Given the description of an element on the screen output the (x, y) to click on. 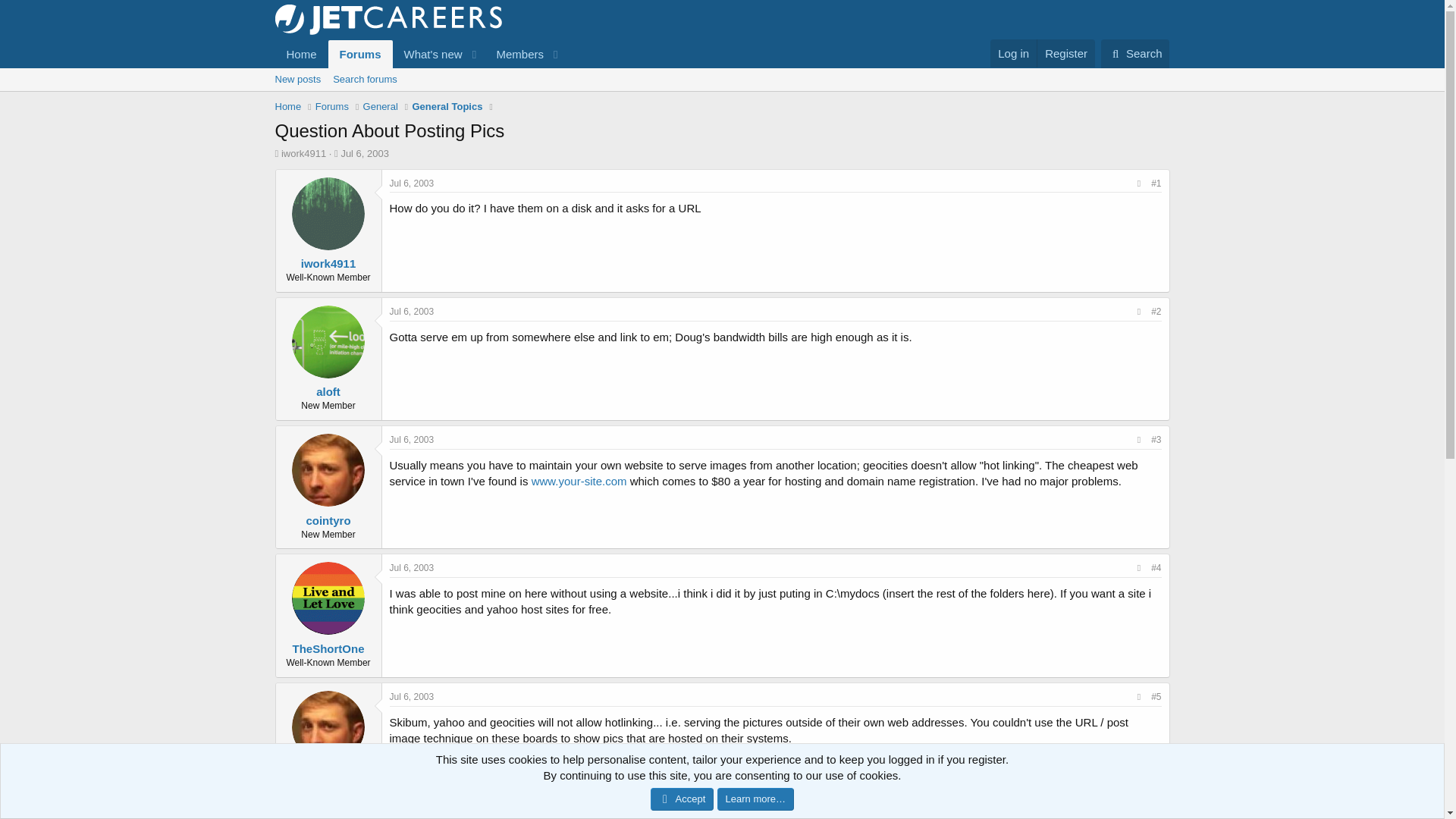
General Topics (446, 106)
Forums (361, 53)
General (720, 78)
Search (379, 106)
Search forums (1135, 53)
Jul 6, 2003 (364, 78)
iwork4911 (364, 153)
Register (303, 153)
Home (1065, 53)
Jul 6, 2003 at 06:51 (288, 106)
Forums (411, 567)
Jul 6, 2003 at 05:55 (332, 106)
Jul 6, 2003 (411, 439)
Log in (411, 183)
